Given the description of an element on the screen output the (x, y) to click on. 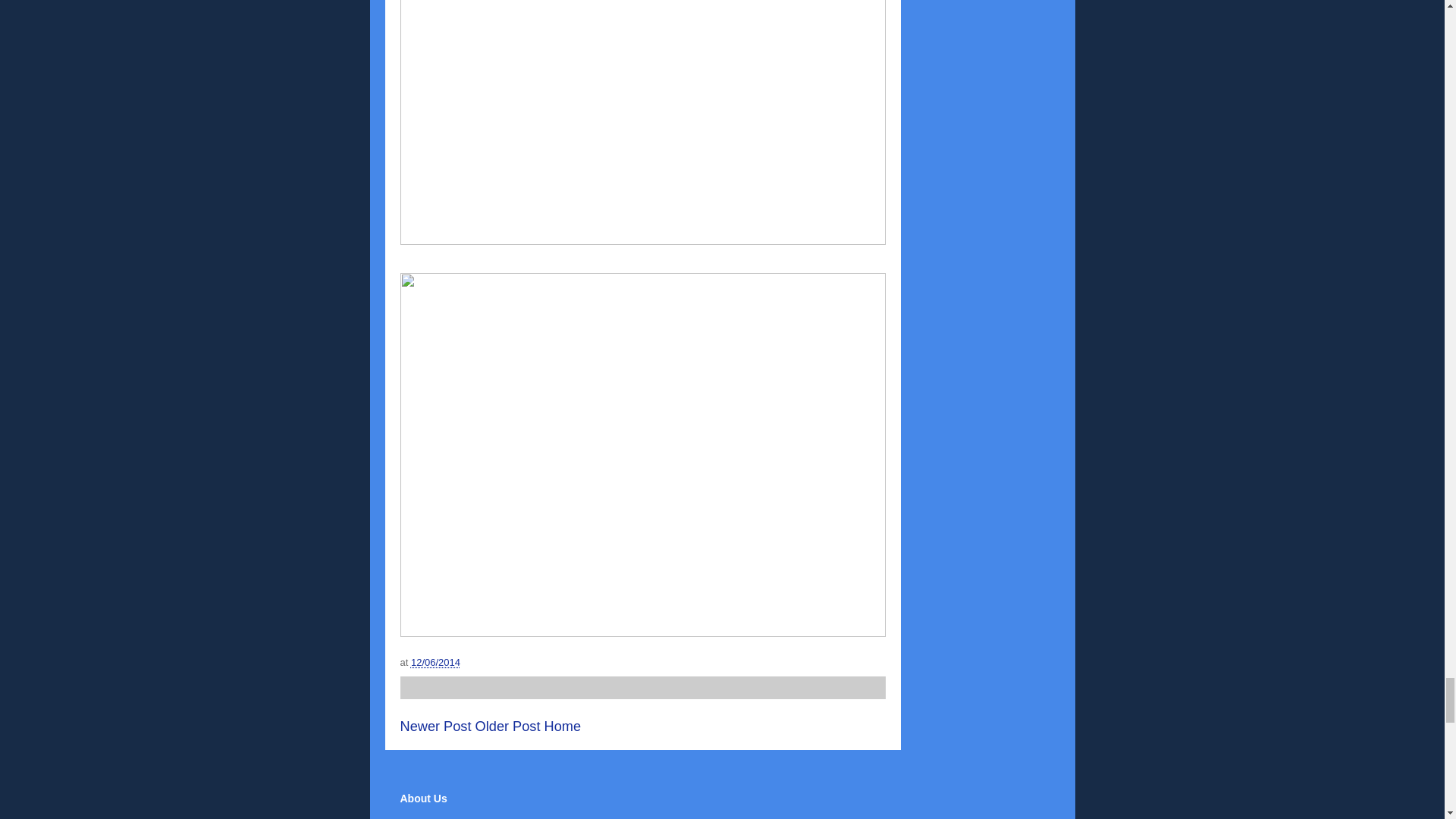
Newer Post (435, 726)
Older Post (508, 726)
permanent link (435, 662)
